Given the description of an element on the screen output the (x, y) to click on. 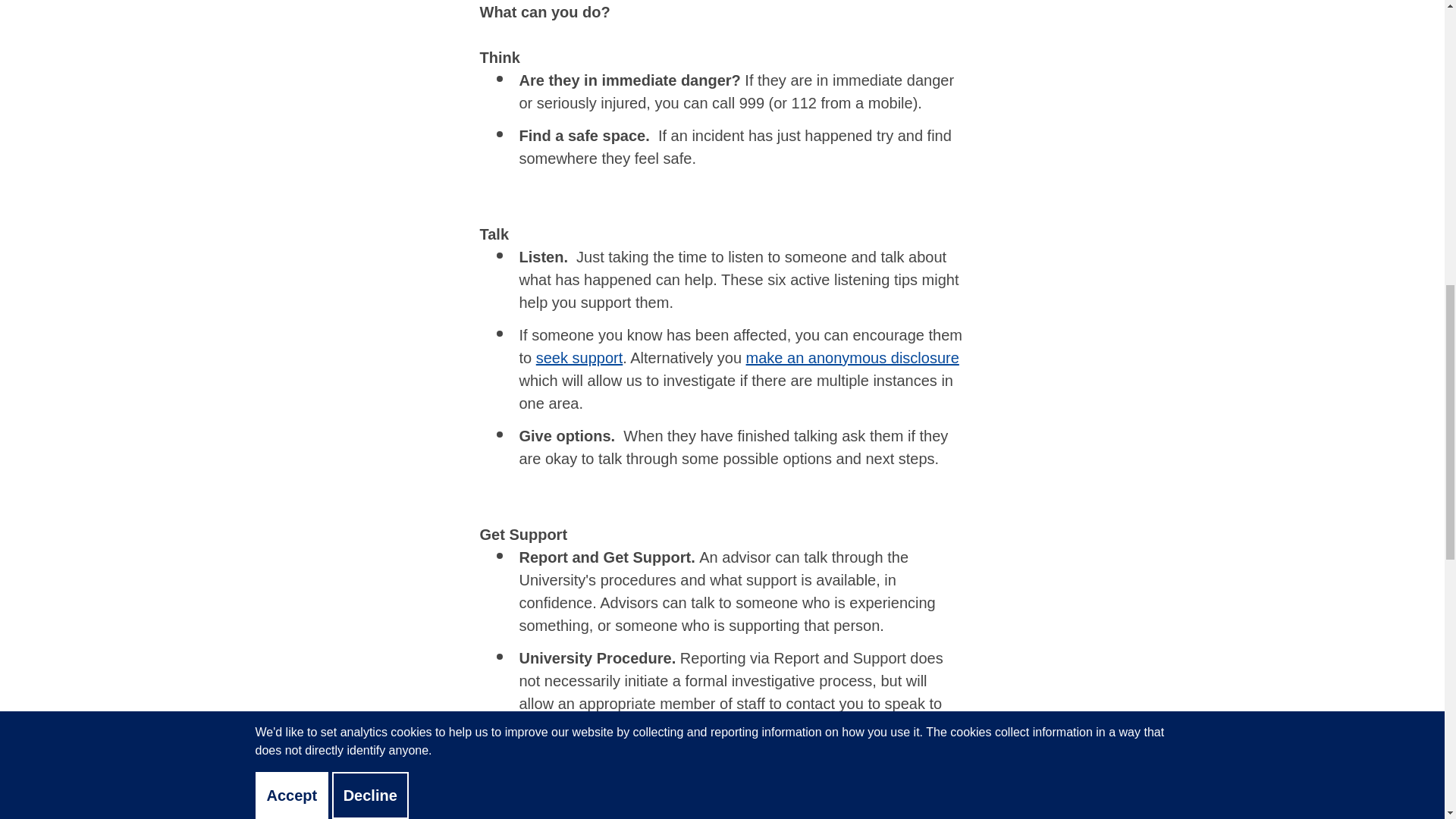
make an anonymous disclosure (852, 357)
Decline (370, 83)
seek support (579, 357)
Accept (291, 83)
